Given the description of an element on the screen output the (x, y) to click on. 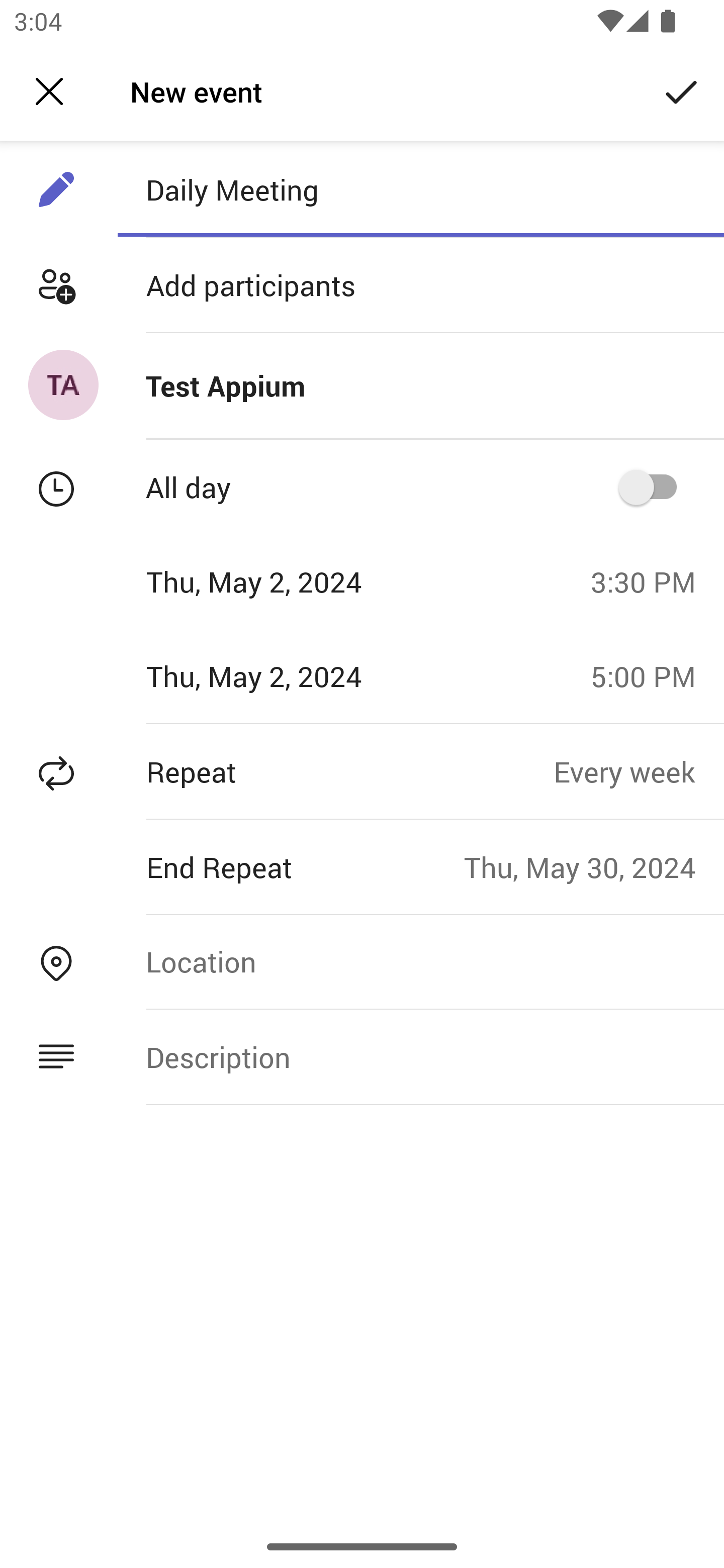
Back (49, 91)
Send invite (681, 90)
Daily Meeting (420, 189)
Add participants Add participants option (362, 285)
All day (654, 486)
Thu, May 2, 2024 Starts Thursday May 02, 2024 (288, 581)
3:30 PM Start time 3:30 PM (650, 581)
Thu, May 2, 2024 Ends Thursday May 02, 2024 (288, 675)
5:00 PM End time 5:00 PM (650, 675)
Repeat (276, 771)
Every week Repeat Every week (638, 771)
End Repeat (232, 867)
Thu, May 30, 2024 End repeat Thursday May 30, 2024 (594, 867)
Location (420, 961)
Description (420, 1056)
